Given the description of an element on the screen output the (x, y) to click on. 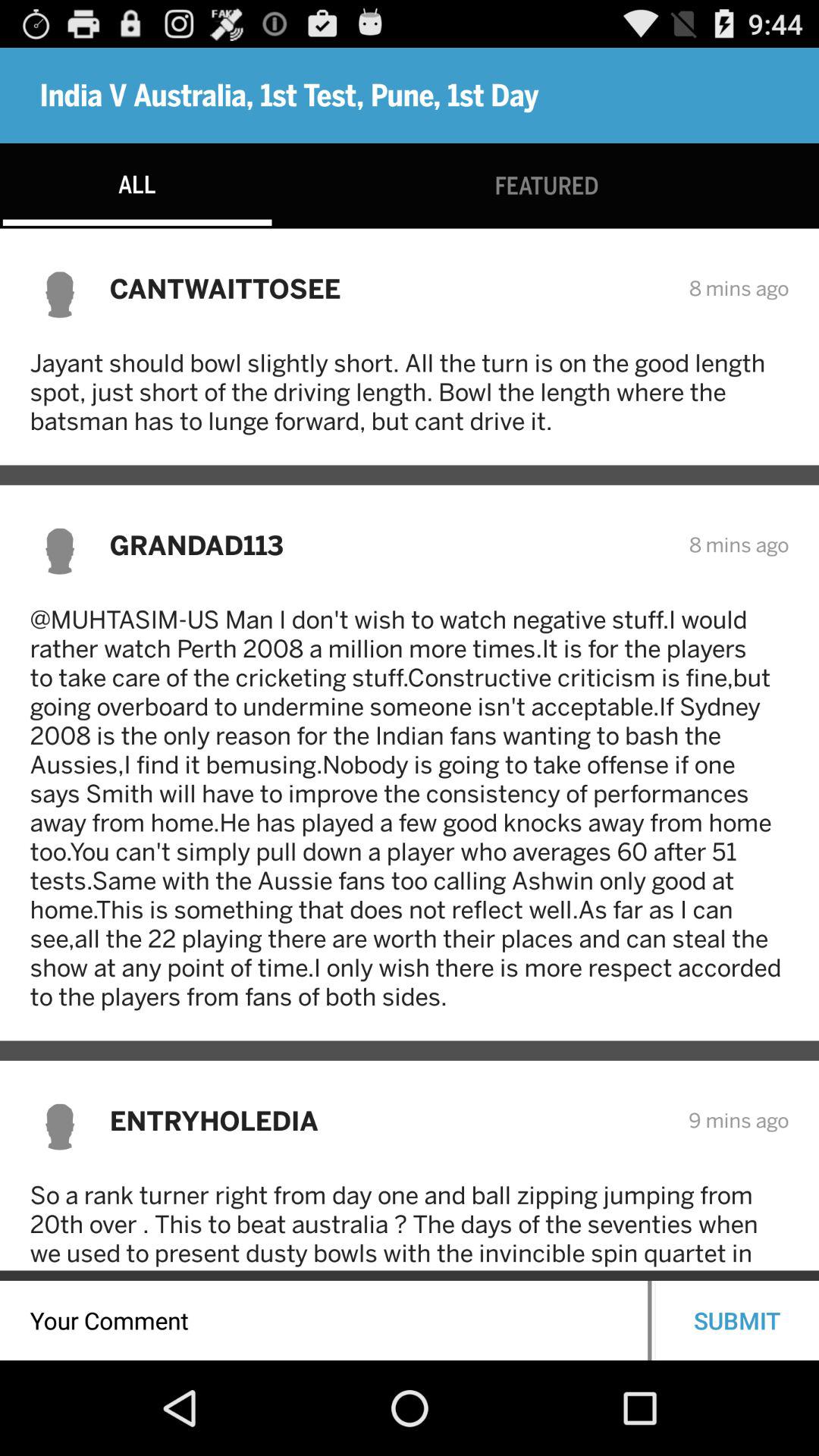
open the icon below the muhtasim us man (388, 1120)
